Given the description of an element on the screen output the (x, y) to click on. 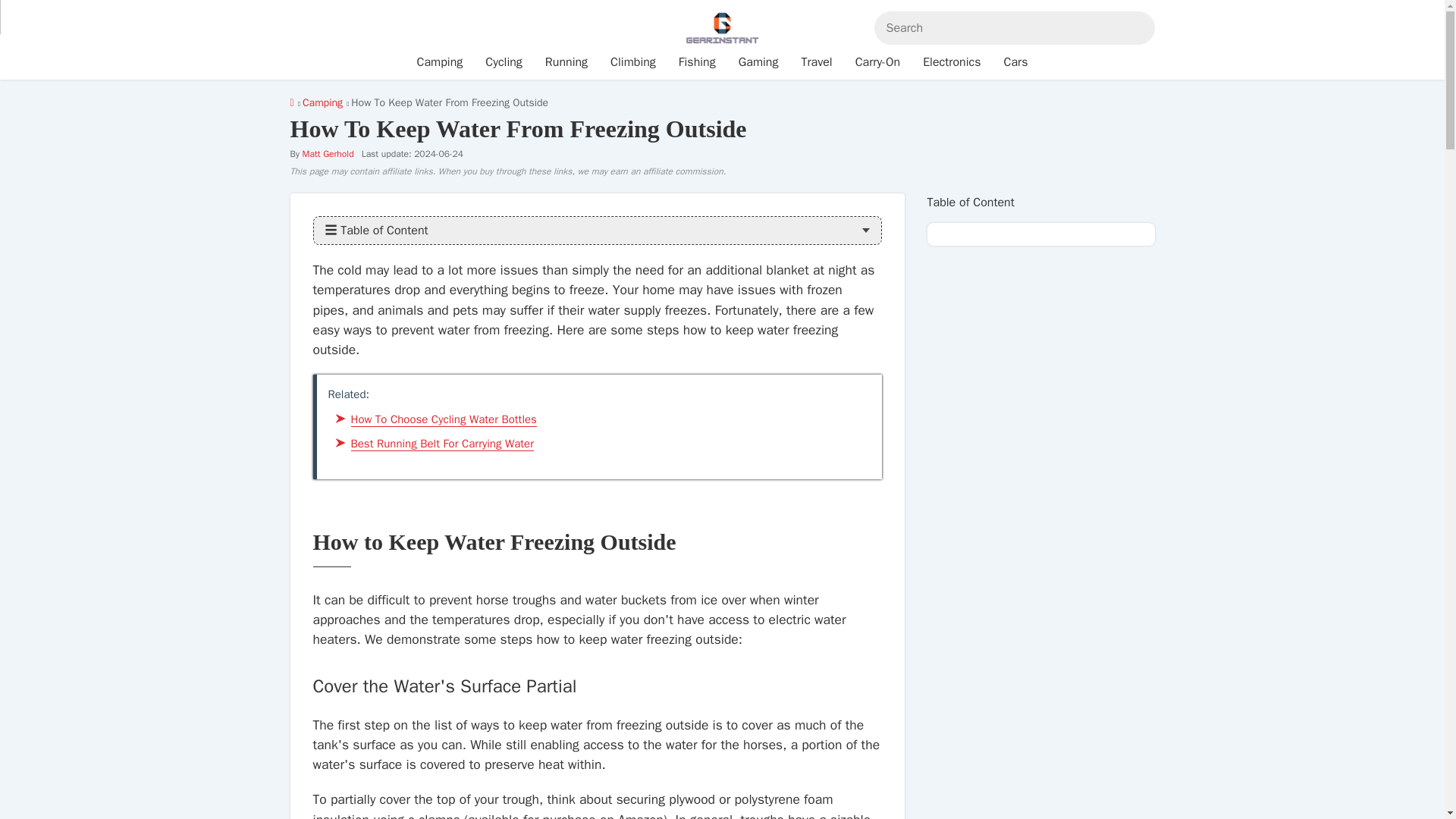
Best Running Belt For Carrying Water (441, 443)
Cycling (504, 62)
Climbing (632, 62)
Matt Gerhold (327, 153)
Fishing (696, 62)
How To Choose Cycling Water Bottles (442, 419)
Camping (322, 102)
How To Choose Cycling Water Bottles (442, 419)
Running (566, 62)
Matt Gerhold (327, 153)
Best Running Belt For Carrying Water (441, 443)
Gear Instant (291, 102)
Camping (322, 102)
Camping (440, 62)
